Given the description of an element on the screen output the (x, y) to click on. 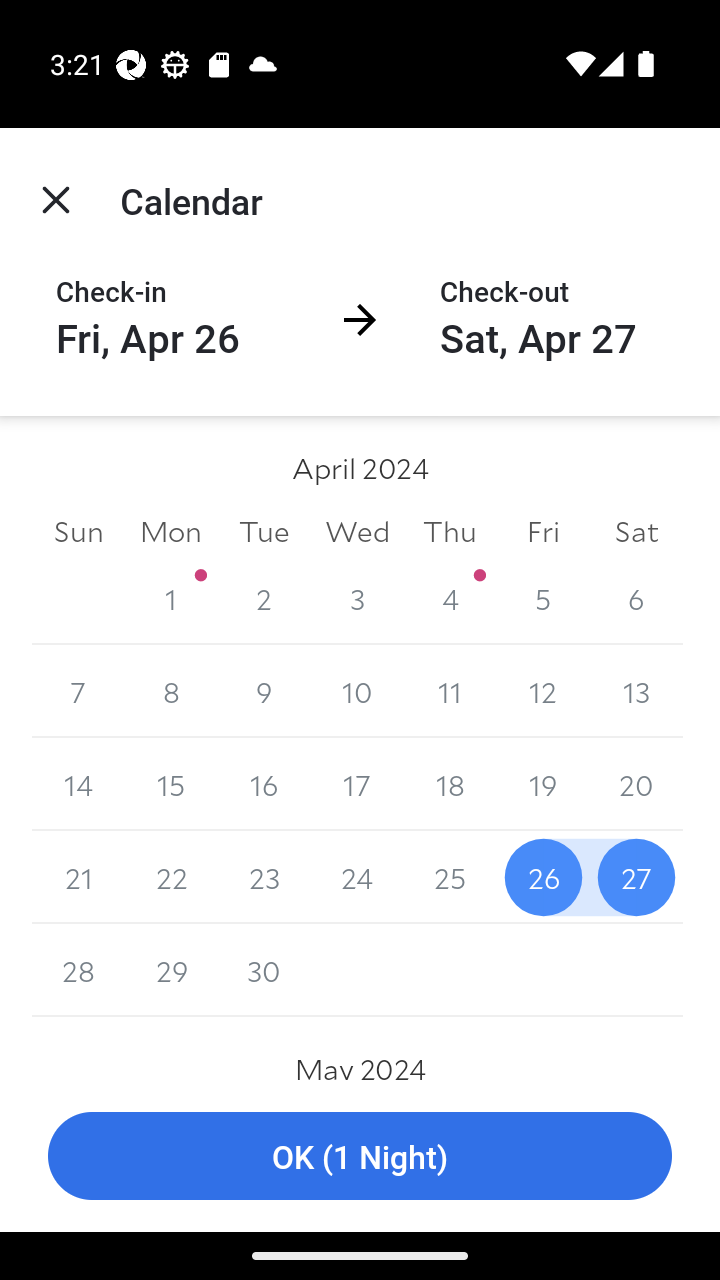
Sun (78, 530)
Mon (171, 530)
Tue (264, 530)
Wed (357, 530)
Thu (449, 530)
Fri (542, 530)
Sat (636, 530)
1 1 April 2024 (171, 598)
2 2 April 2024 (264, 598)
3 3 April 2024 (357, 598)
4 4 April 2024 (449, 598)
5 5 April 2024 (542, 598)
6 6 April 2024 (636, 598)
7 7 April 2024 (78, 691)
8 8 April 2024 (171, 691)
9 9 April 2024 (264, 691)
10 10 April 2024 (357, 691)
11 11 April 2024 (449, 691)
12 12 April 2024 (542, 691)
13 13 April 2024 (636, 691)
14 14 April 2024 (78, 784)
15 15 April 2024 (171, 784)
16 16 April 2024 (264, 784)
17 17 April 2024 (357, 784)
18 18 April 2024 (449, 784)
19 19 April 2024 (542, 784)
20 20 April 2024 (636, 784)
21 21 April 2024 (78, 877)
22 22 April 2024 (171, 877)
23 23 April 2024 (264, 877)
24 24 April 2024 (357, 877)
25 25 April 2024 (449, 877)
26 26 April 2024 (542, 877)
27 27 April 2024 (636, 877)
28 28 April 2024 (78, 970)
29 29 April 2024 (171, 970)
30 30 April 2024 (264, 970)
OK (1 Night) (359, 1156)
